Given the description of an element on the screen output the (x, y) to click on. 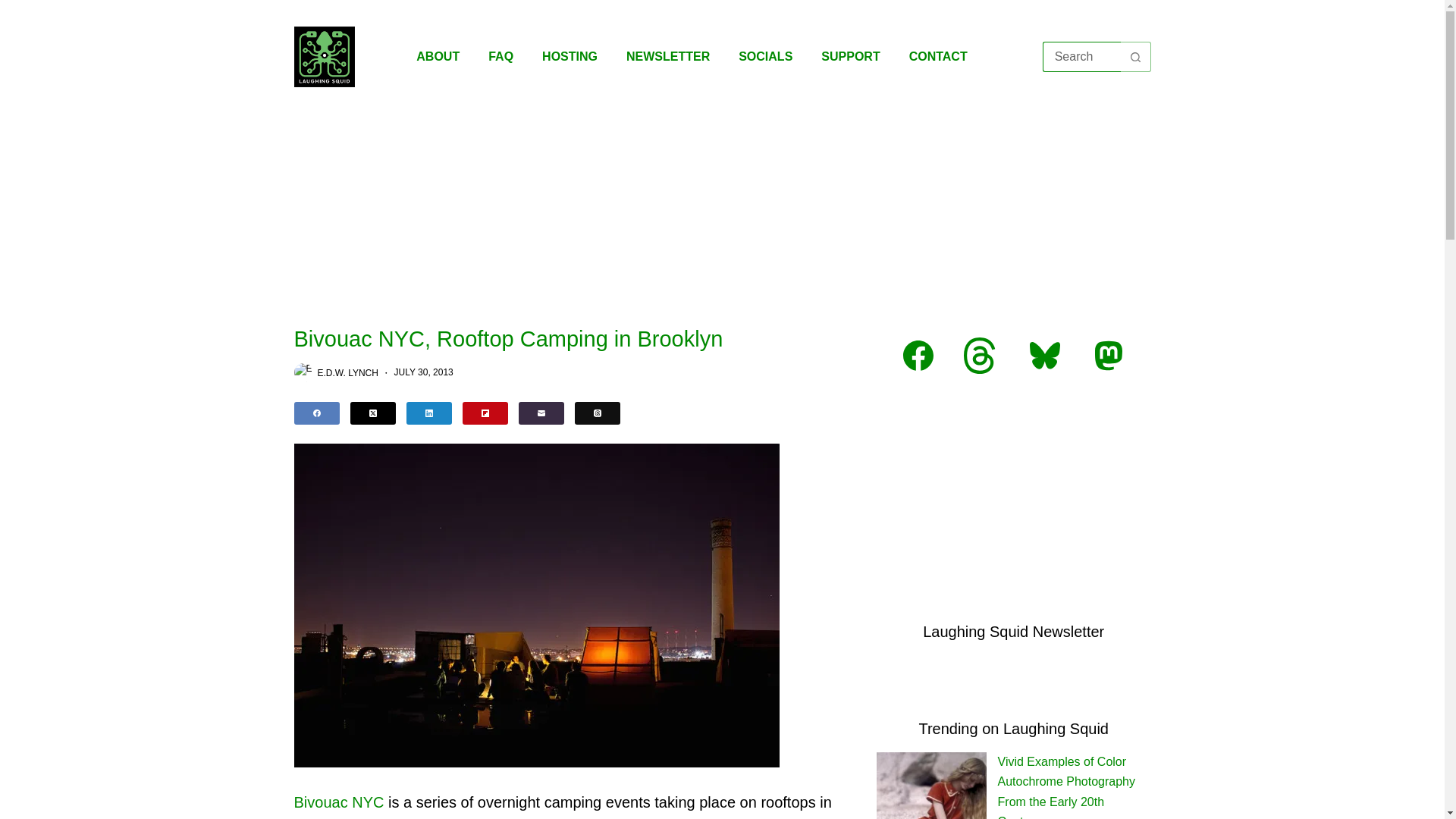
Bivouac NYC, Rooftop Camping in Brooklyn (572, 338)
Posts by E.D.W. Lynch (347, 371)
NEWSLETTER (667, 56)
Bivouac NYC (339, 801)
Skip to content (15, 7)
E.D.W. LYNCH (347, 371)
Search for... (1081, 56)
